Given the description of an element on the screen output the (x, y) to click on. 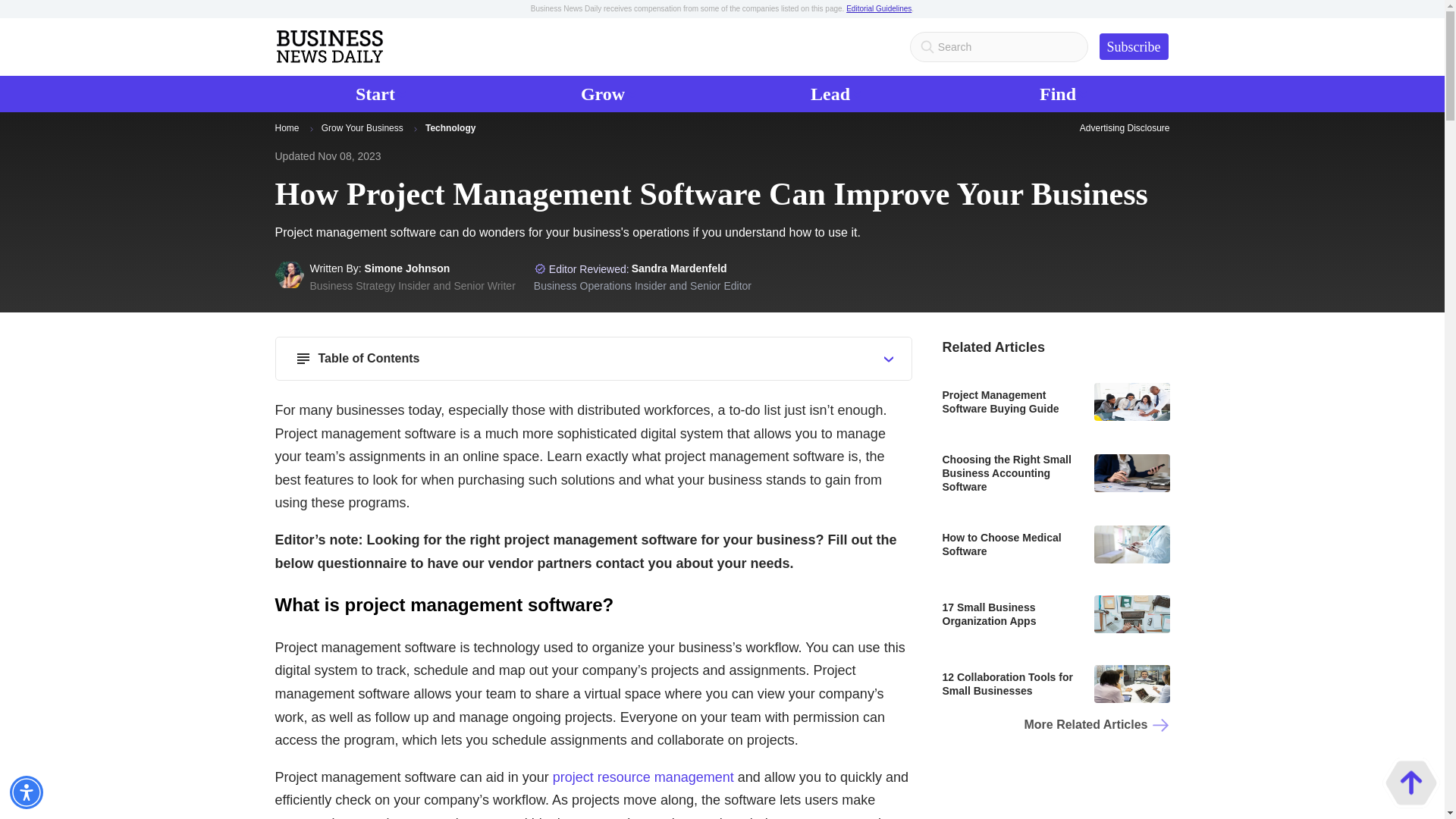
Open row (380, 94)
Subscribe (608, 94)
Arrow (888, 359)
Verified Check With Border (1134, 46)
Accessibility Menu (311, 129)
Arrow (540, 268)
Editorial Guidelines (26, 792)
